Given the description of an element on the screen output the (x, y) to click on. 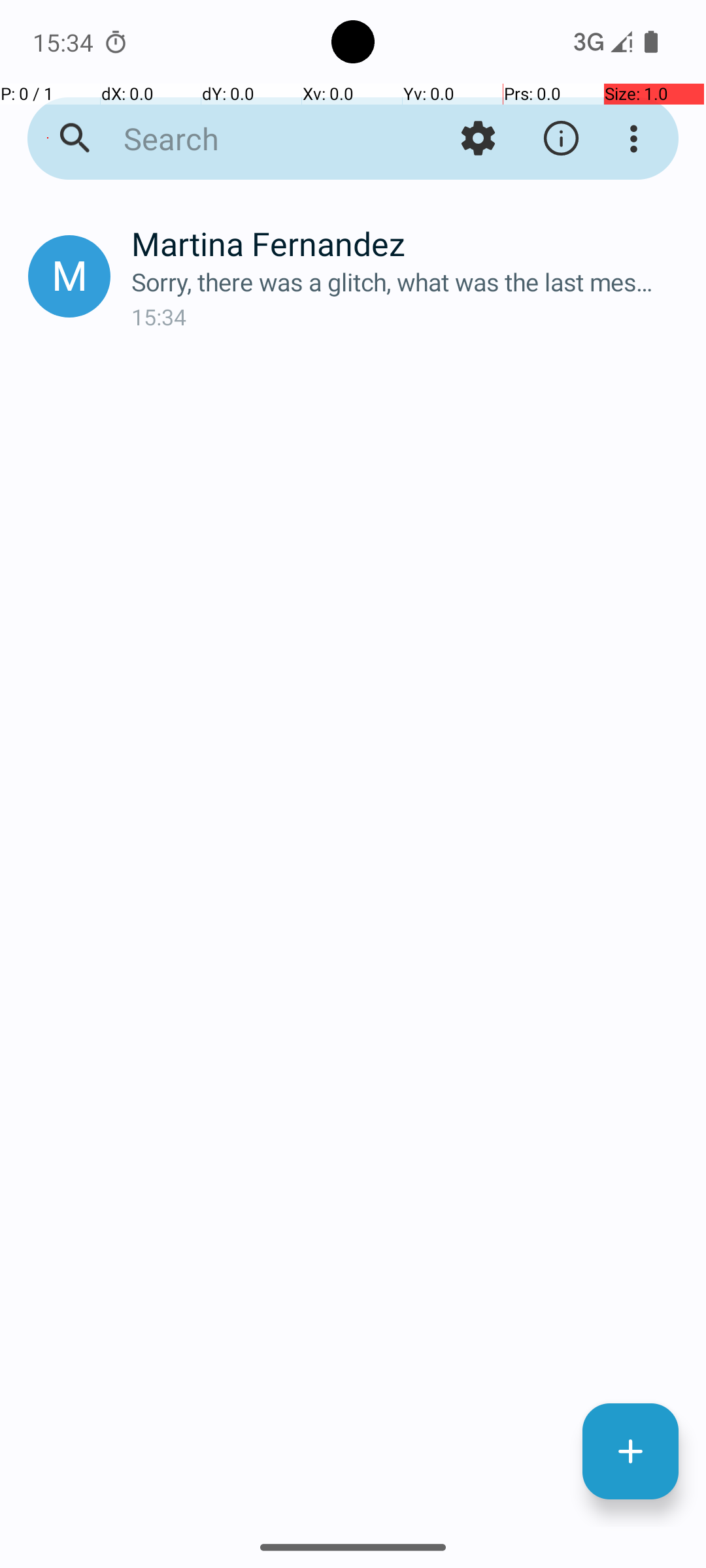
Martina Fernandez Element type: android.widget.TextView (408, 242)
